Given the description of an element on the screen output the (x, y) to click on. 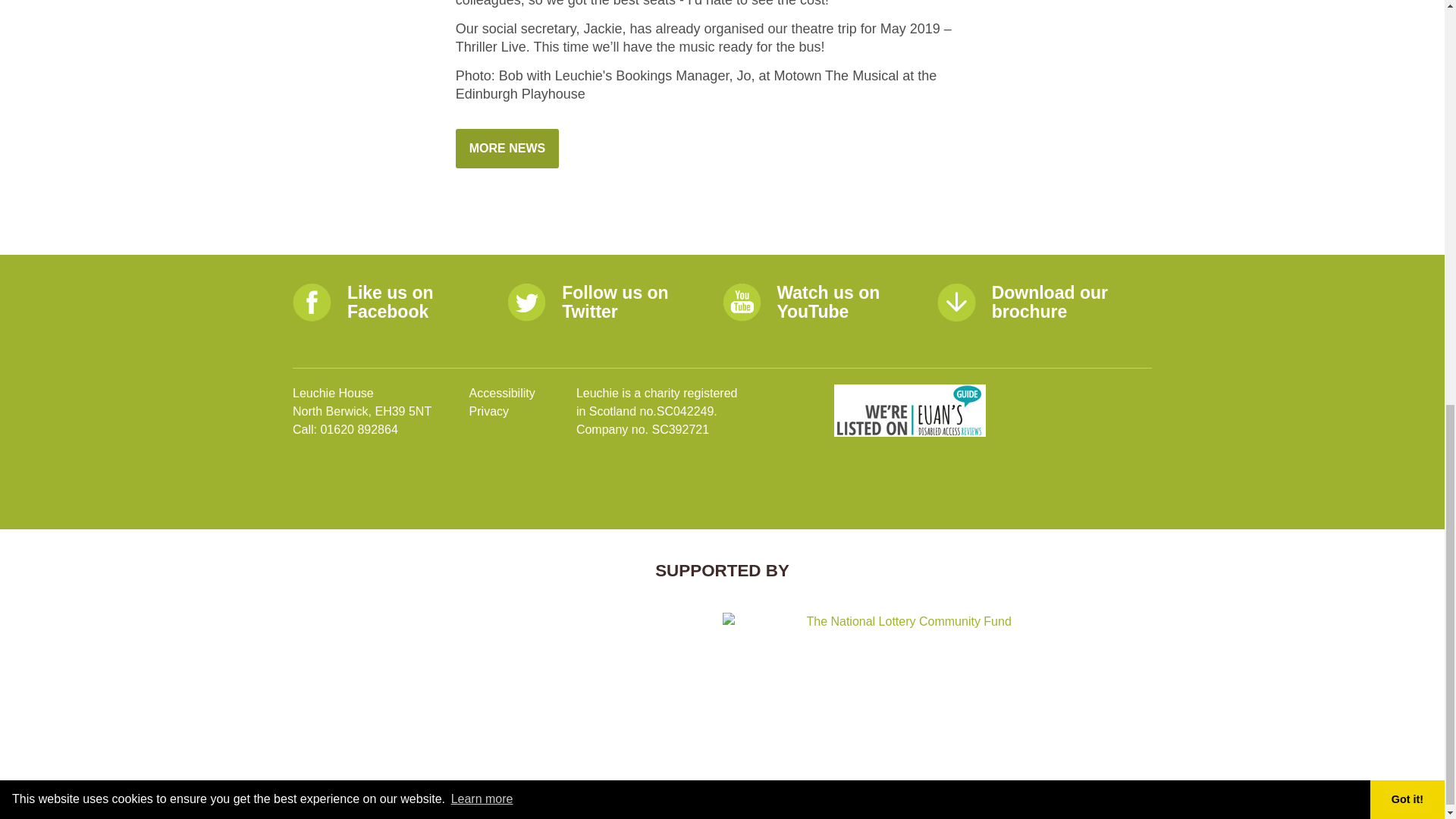
Learn more (481, 2)
